Given the description of an element on the screen output the (x, y) to click on. 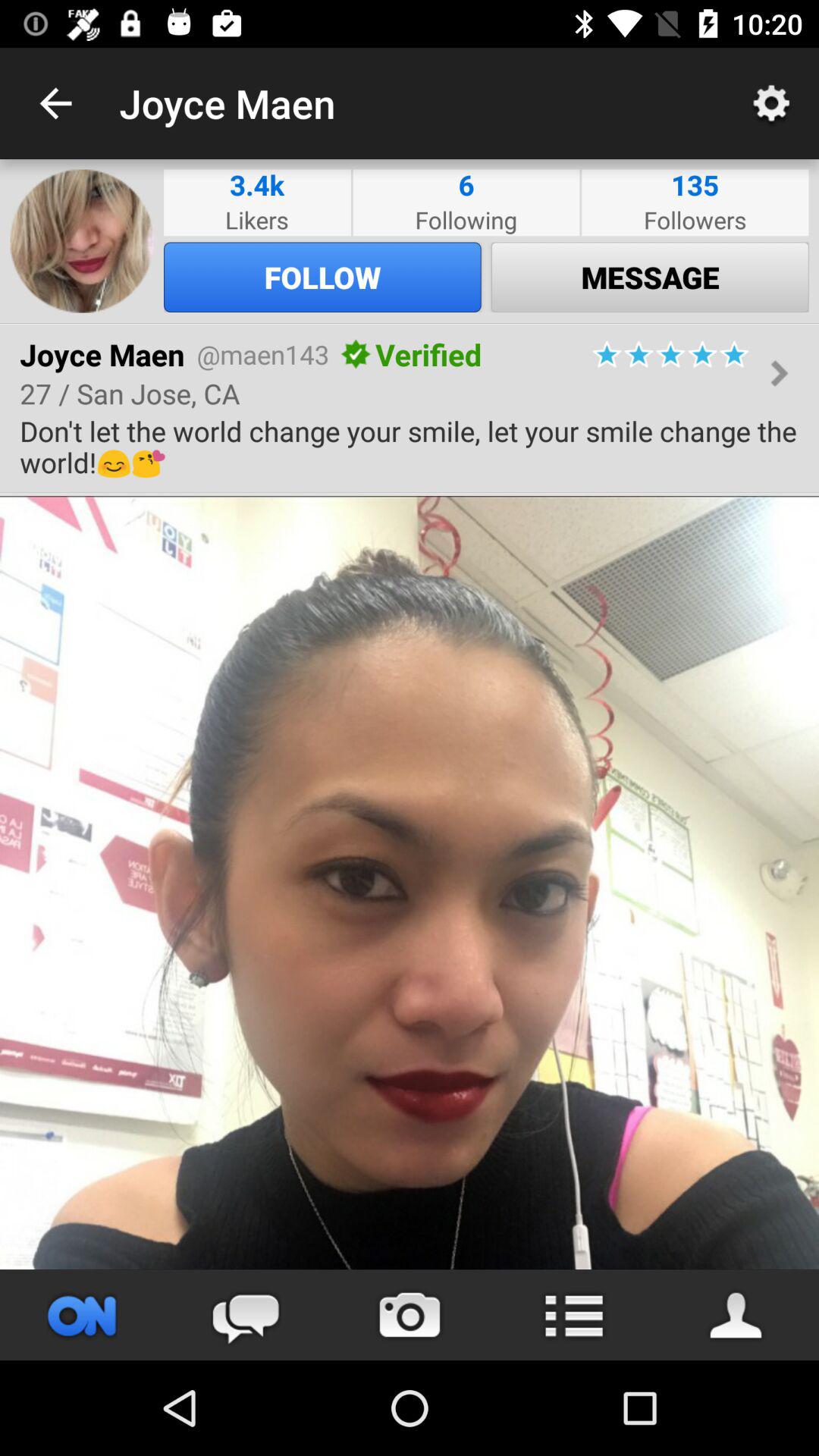
photo (409, 882)
